Given the description of an element on the screen output the (x, y) to click on. 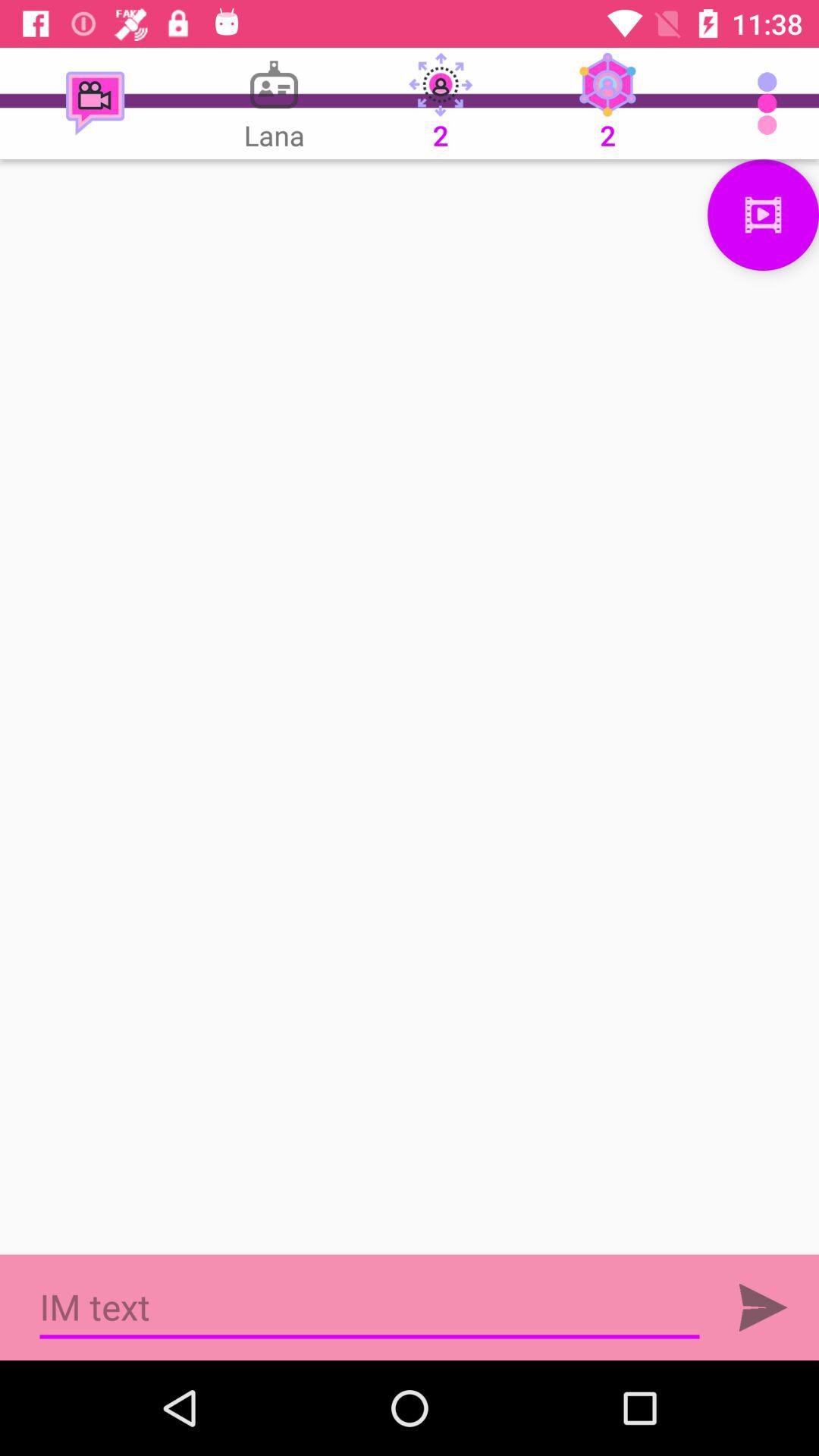
telegram (763, 1307)
